Given the description of an element on the screen output the (x, y) to click on. 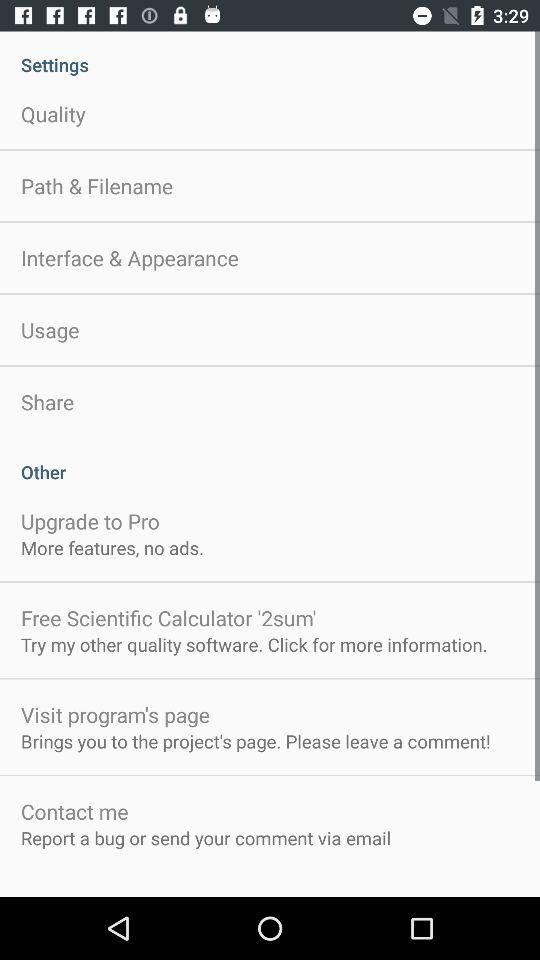
turn off the icon below usage app (47, 401)
